Given the description of an element on the screen output the (x, y) to click on. 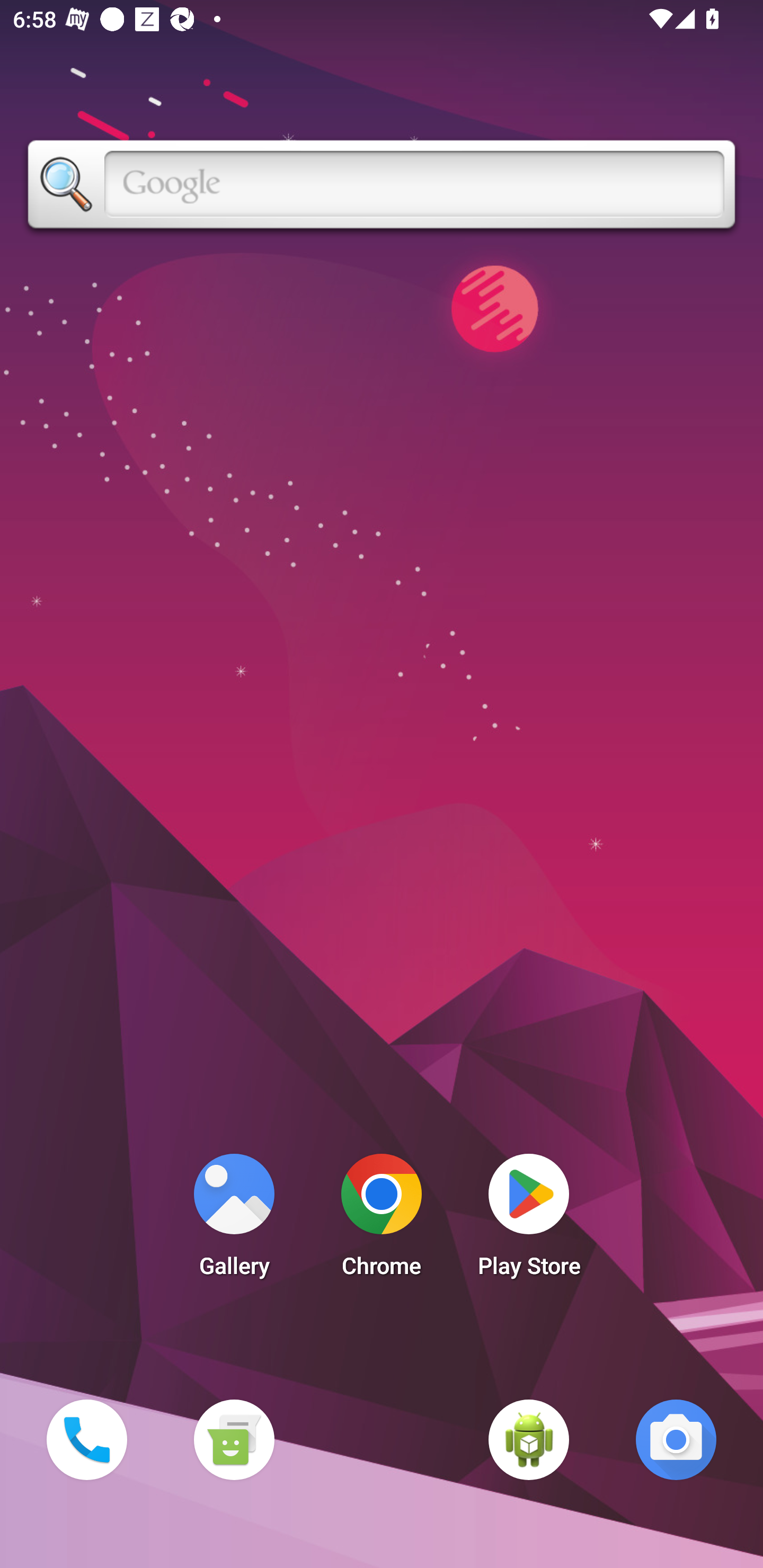
Gallery (233, 1220)
Chrome (381, 1220)
Play Store (528, 1220)
Phone (86, 1439)
Messaging (233, 1439)
WebView Browser Tester (528, 1439)
Camera (676, 1439)
